Given the description of an element on the screen output the (x, y) to click on. 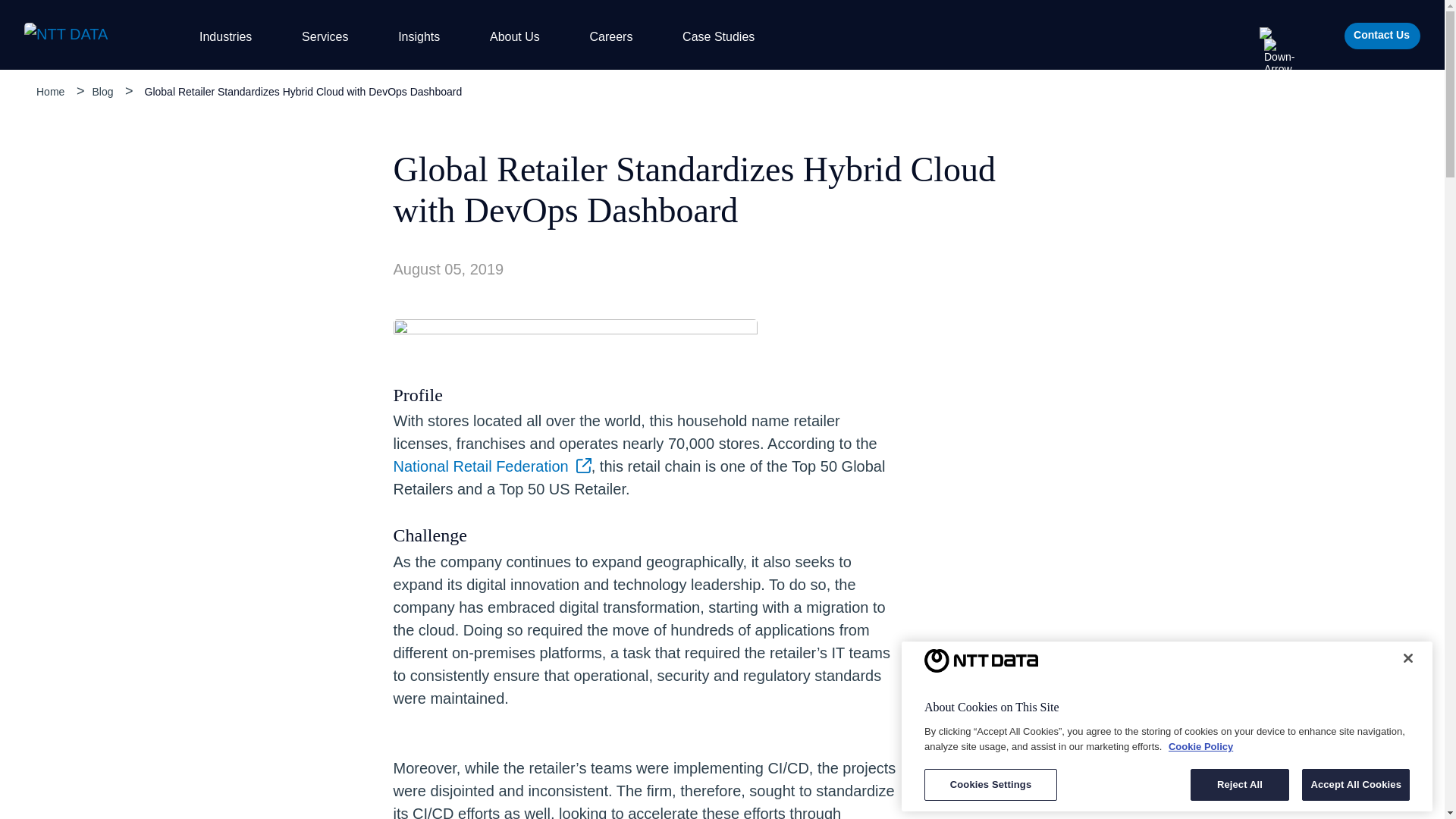
Case Studies (718, 36)
Home (50, 91)
Image (87, 35)
Blog (102, 91)
Services (330, 36)
Industries (231, 36)
